Given the description of an element on the screen output the (x, y) to click on. 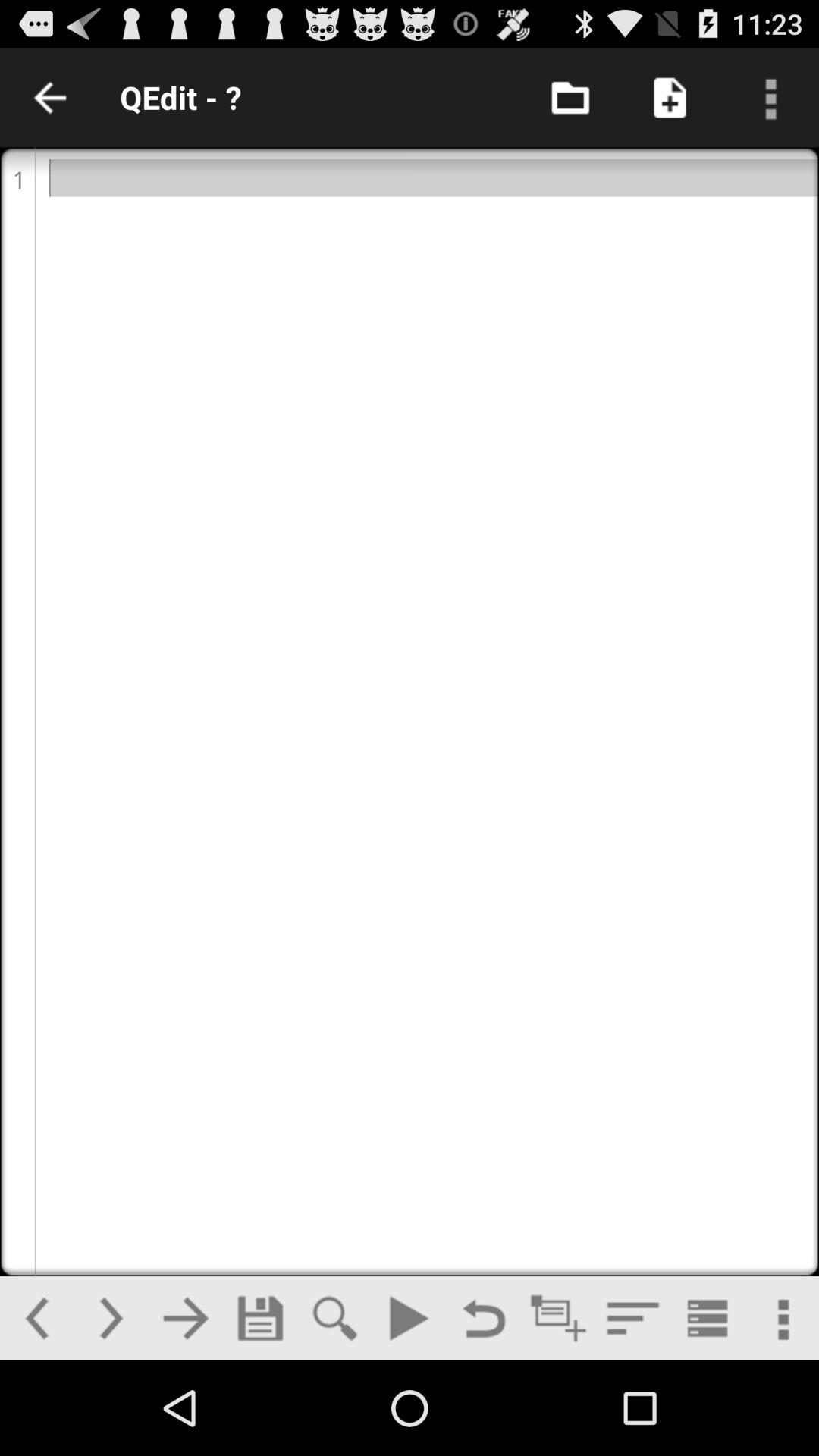
go to another page (185, 1318)
